Given the description of an element on the screen output the (x, y) to click on. 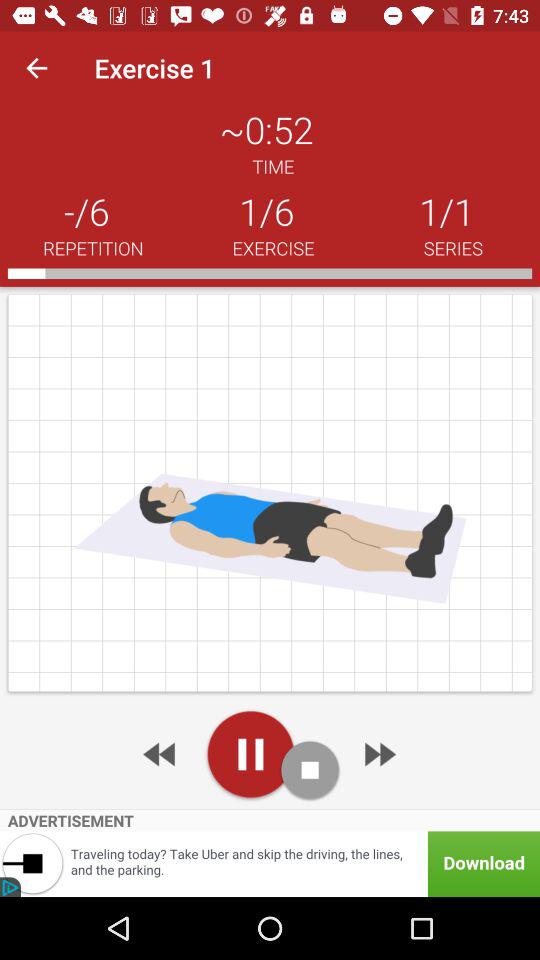
rewind (161, 754)
